Given the description of an element on the screen output the (x, y) to click on. 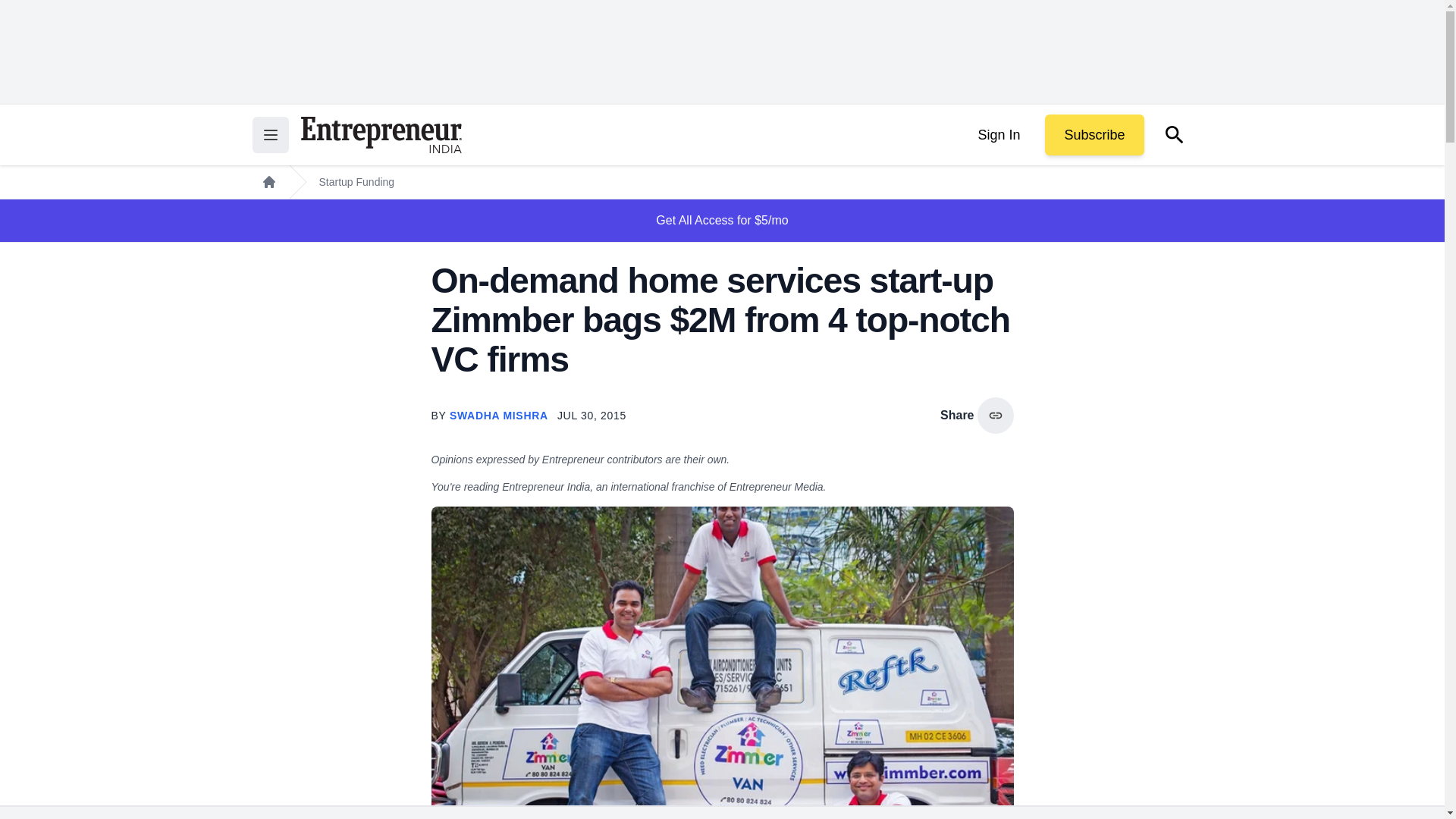
copy (994, 415)
Return to the home page (380, 135)
Sign In (998, 134)
Subscribe (1093, 134)
